Given the description of an element on the screen output the (x, y) to click on. 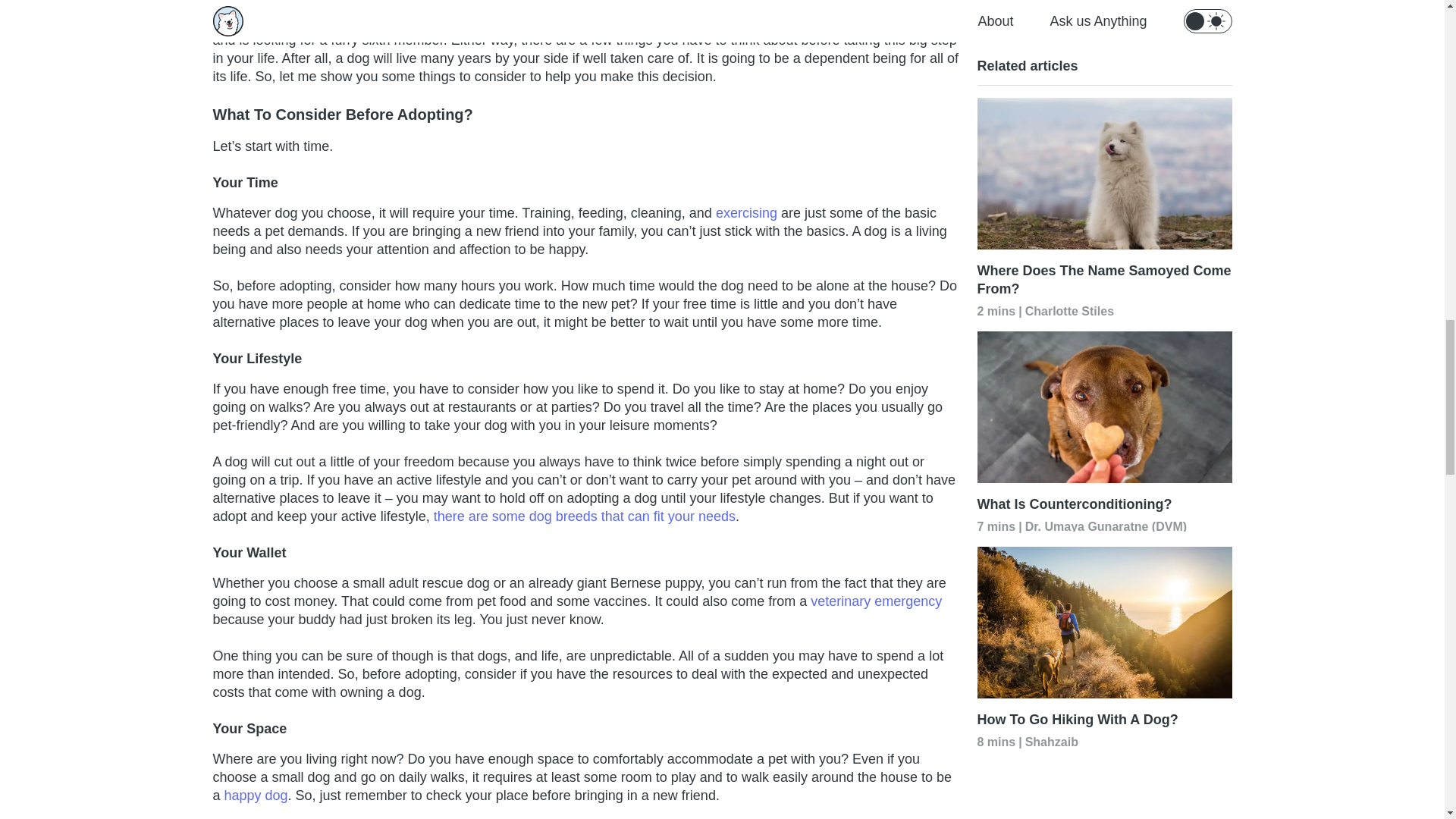
there are some dog breeds that can fit your needs (584, 516)
happy dog (256, 795)
veterinary emergency (876, 601)
exercising (746, 212)
